Given the description of an element on the screen output the (x, y) to click on. 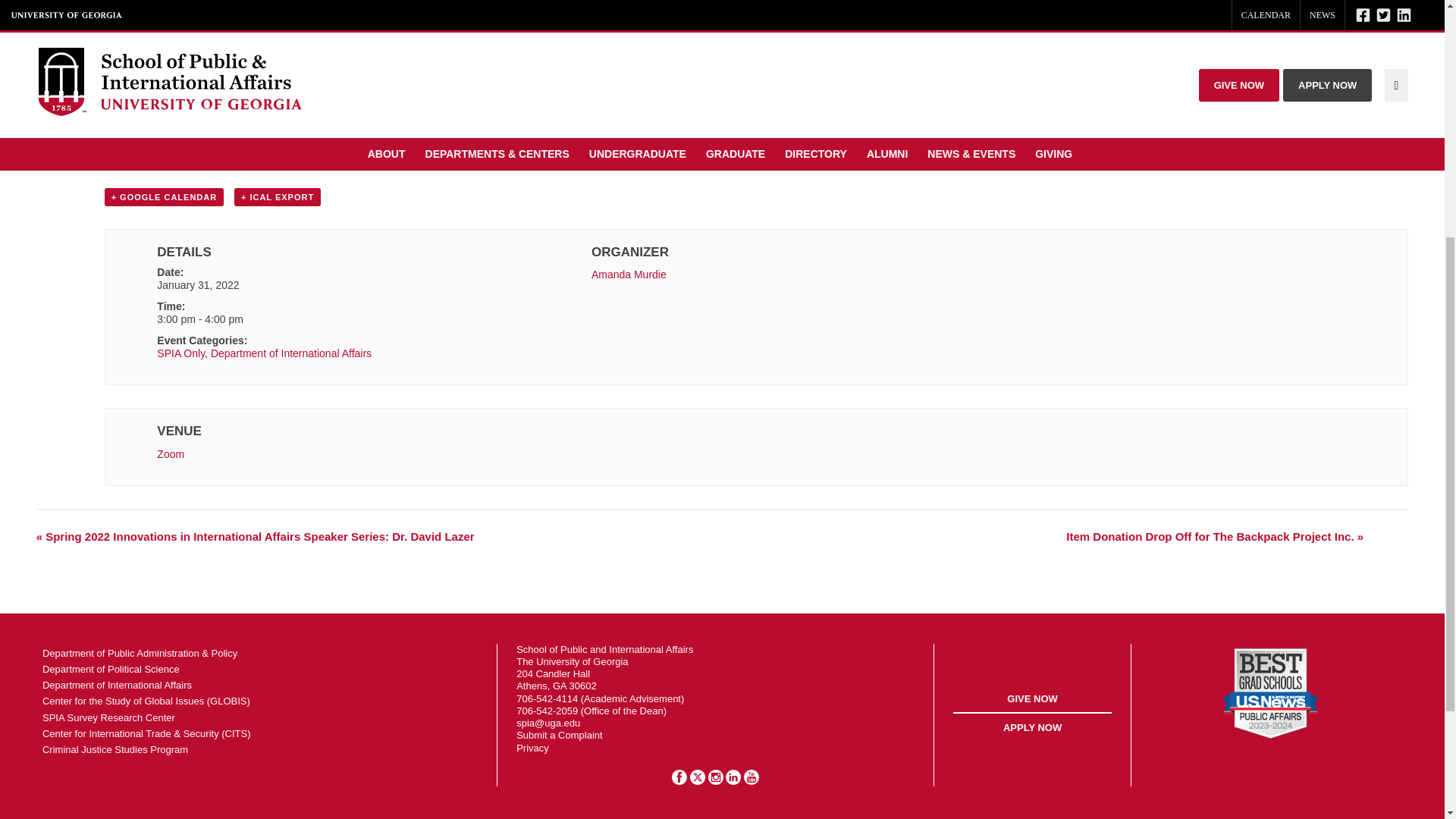
Download .ics file (277, 197)
Instagram (716, 781)
Facebook (680, 781)
Amanda Murdie (628, 274)
YouTube (751, 781)
Add to Google Calendar (164, 197)
LinkedIn (734, 781)
Twitter (698, 781)
2022-01-31 (197, 285)
2022-01-31 (321, 319)
